Given the description of an element on the screen output the (x, y) to click on. 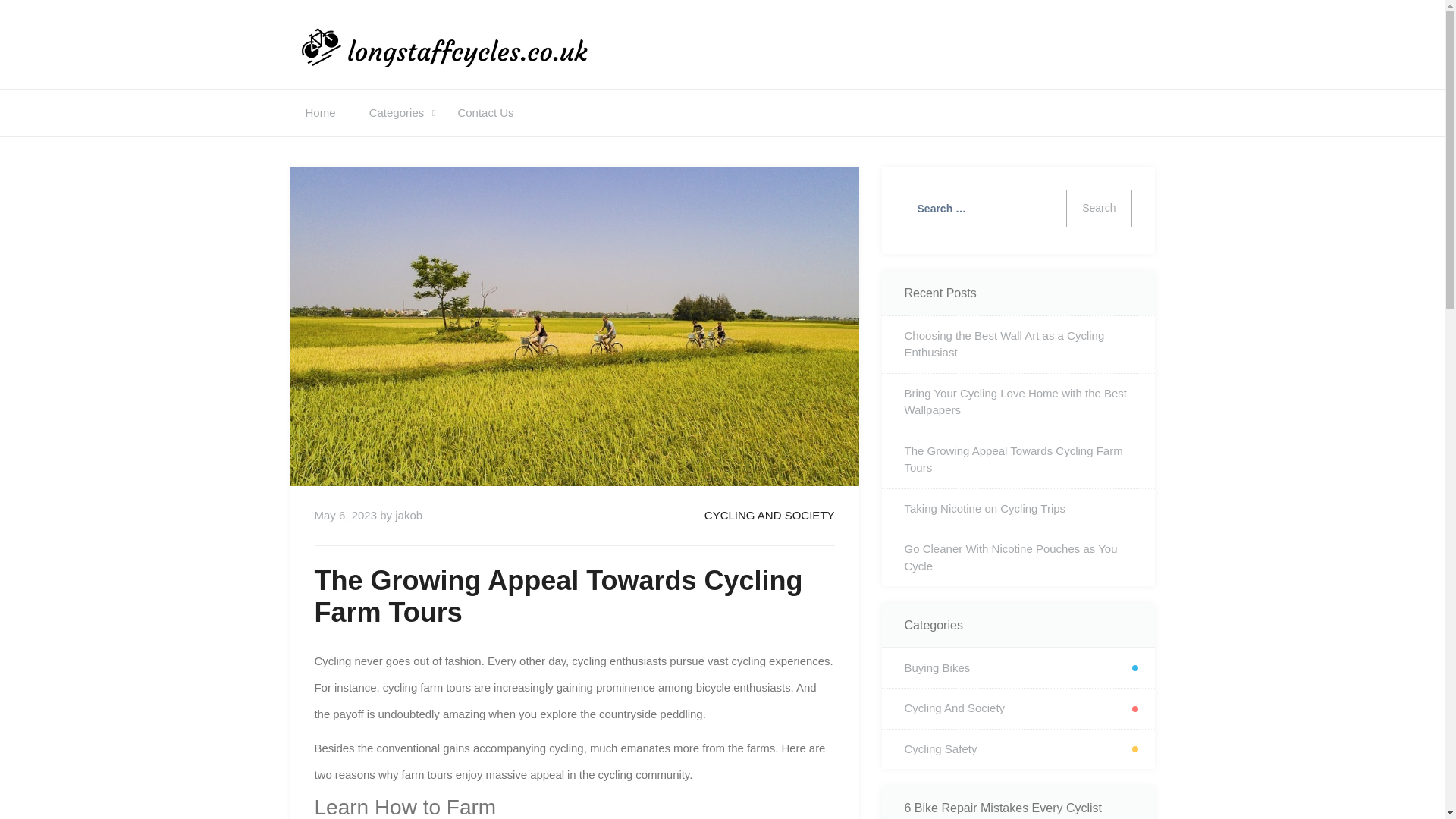
Go Cleaner With Nicotine Pouches as You Cycle (1018, 557)
Taking Nicotine on Cycling Trips (1018, 508)
Contact Us (485, 112)
Search (1098, 208)
jakob (408, 514)
Cycling Safety (1018, 749)
Categories (396, 112)
Post Single (769, 514)
Search (1098, 208)
Cycling And Society (1018, 708)
The Growing Appeal Towards Cycling Farm Tours (1018, 459)
May 6, 2023 (345, 514)
Buying Bikes (1018, 668)
Bring Your Cycling Love Home with the Best Wallpapers (1018, 401)
Home (319, 112)
